Given the description of an element on the screen output the (x, y) to click on. 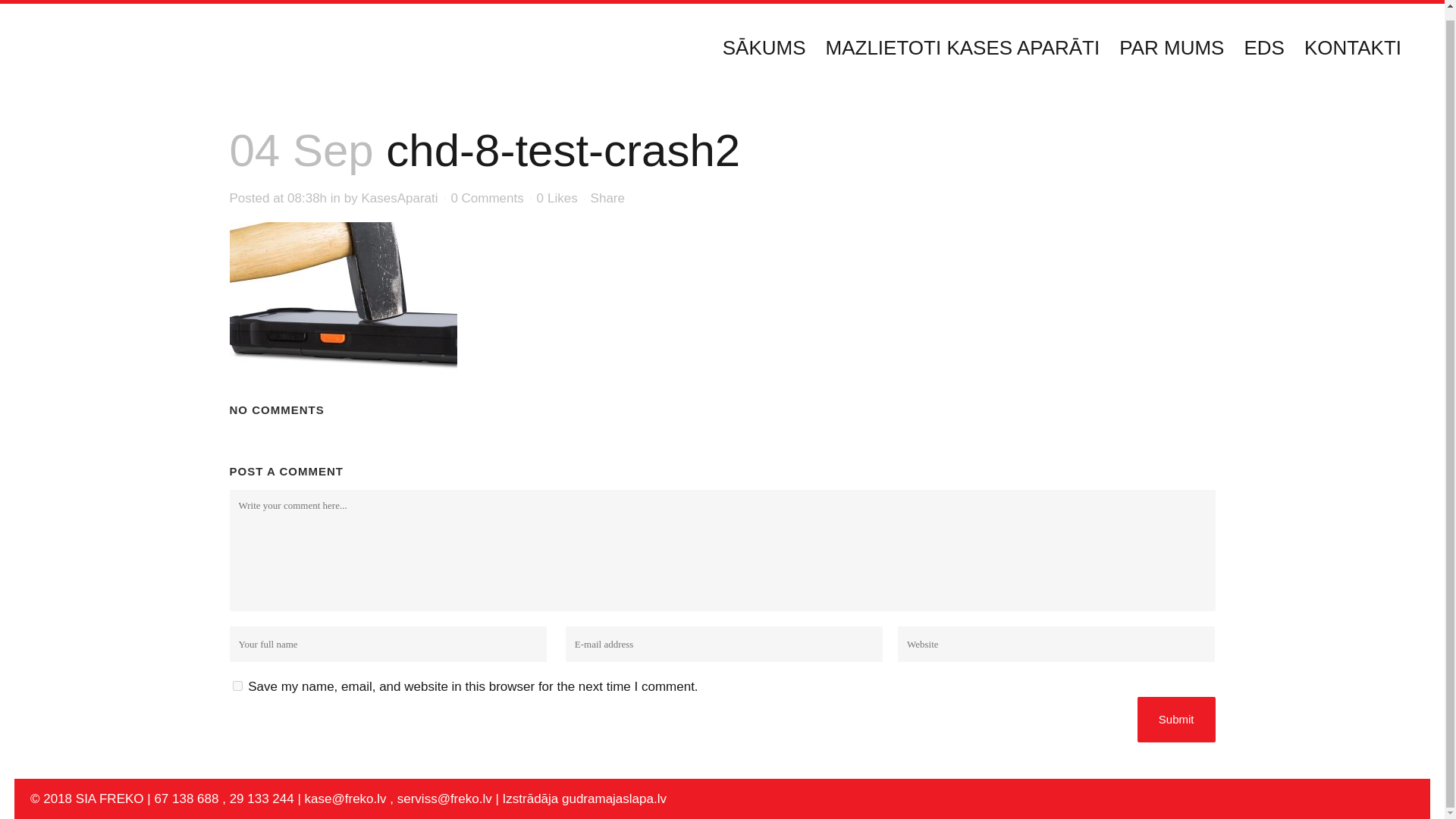
gudramajaslapa.lv  (615, 798)
Like this (557, 198)
PAR MUMS (1171, 42)
yes (236, 685)
0 Comments (485, 197)
Share (607, 197)
Submit (1176, 719)
KONTAKTI (1352, 42)
KasesAparati (399, 197)
0 Likes (557, 198)
